Given the description of an element on the screen output the (x, y) to click on. 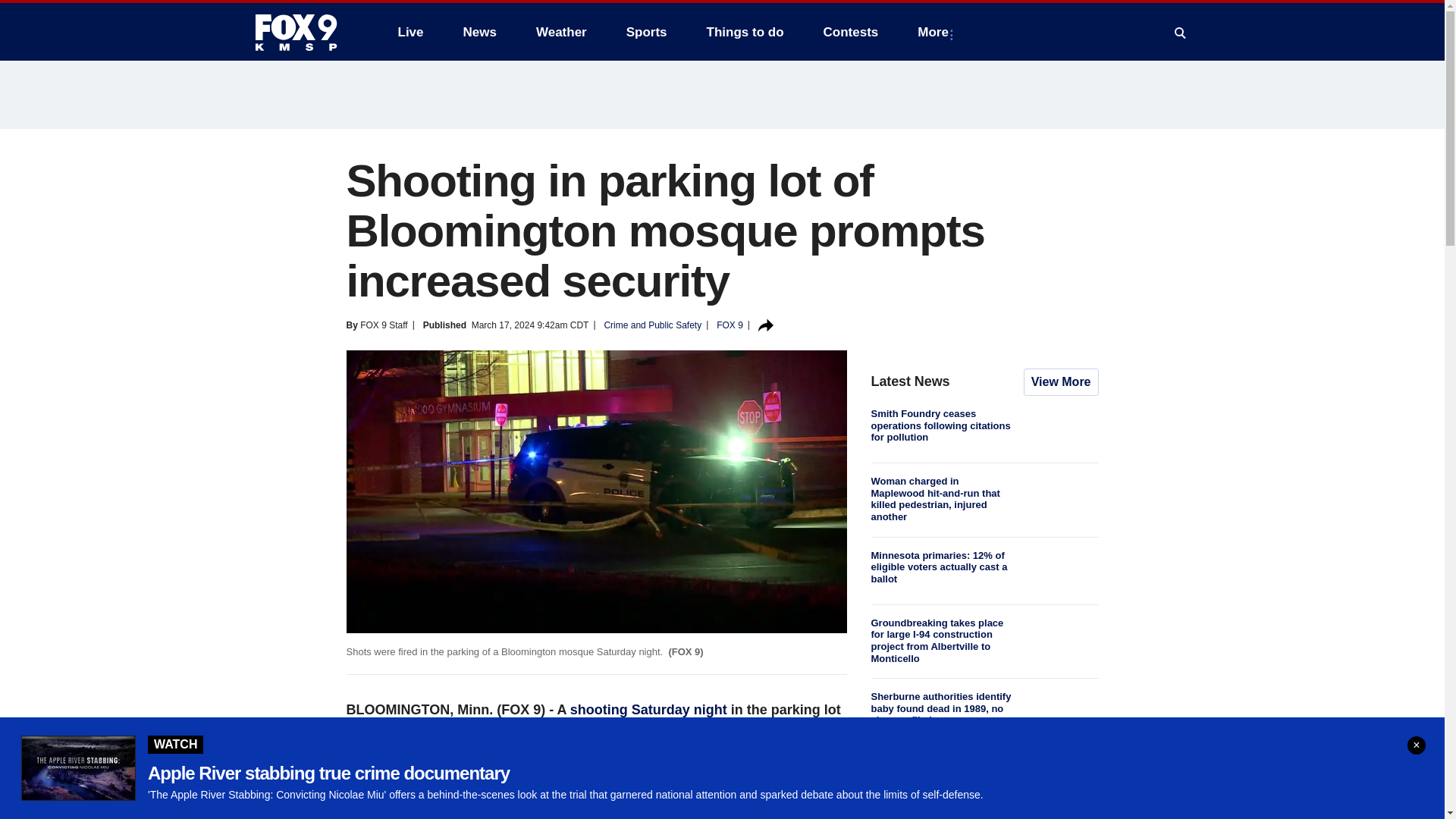
Weather (561, 32)
Sports (646, 32)
News (479, 32)
More (935, 32)
Live (410, 32)
Things to do (745, 32)
Contests (850, 32)
